Given the description of an element on the screen output the (x, y) to click on. 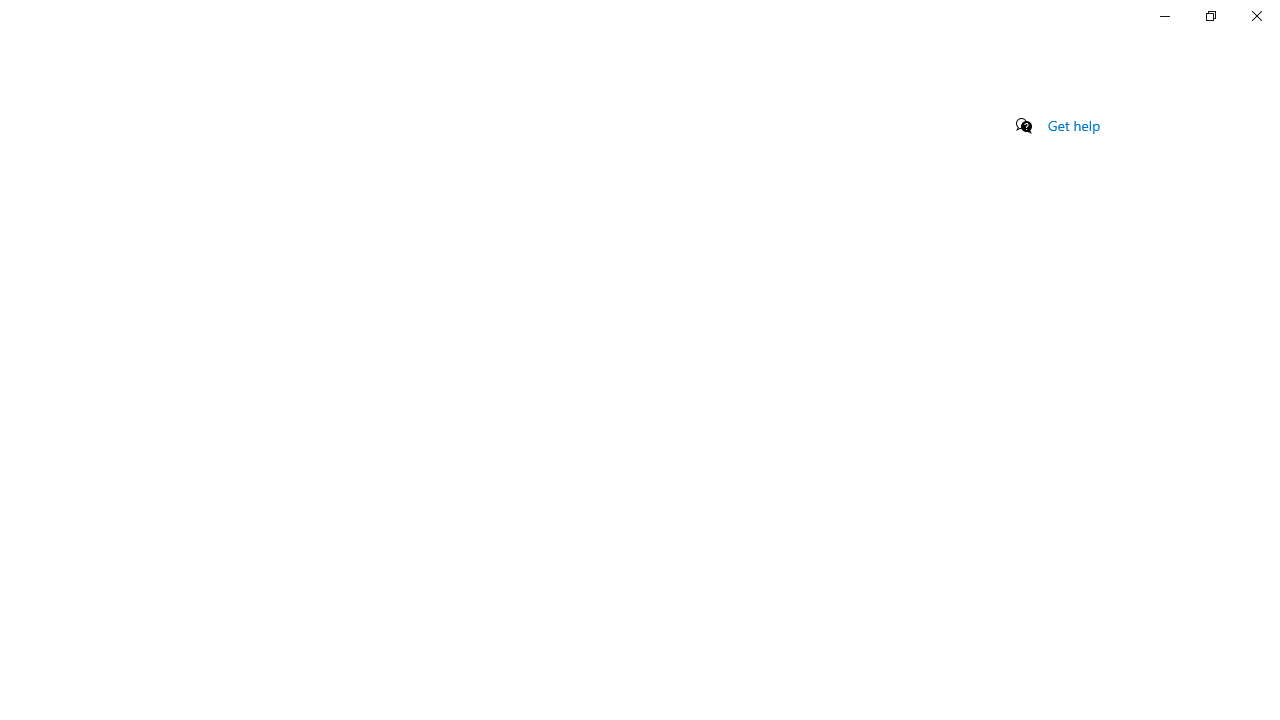
Get help (1074, 125)
Minimize Settings (1164, 15)
Restore Settings (1210, 15)
Close Settings (1256, 15)
